Given the description of an element on the screen output the (x, y) to click on. 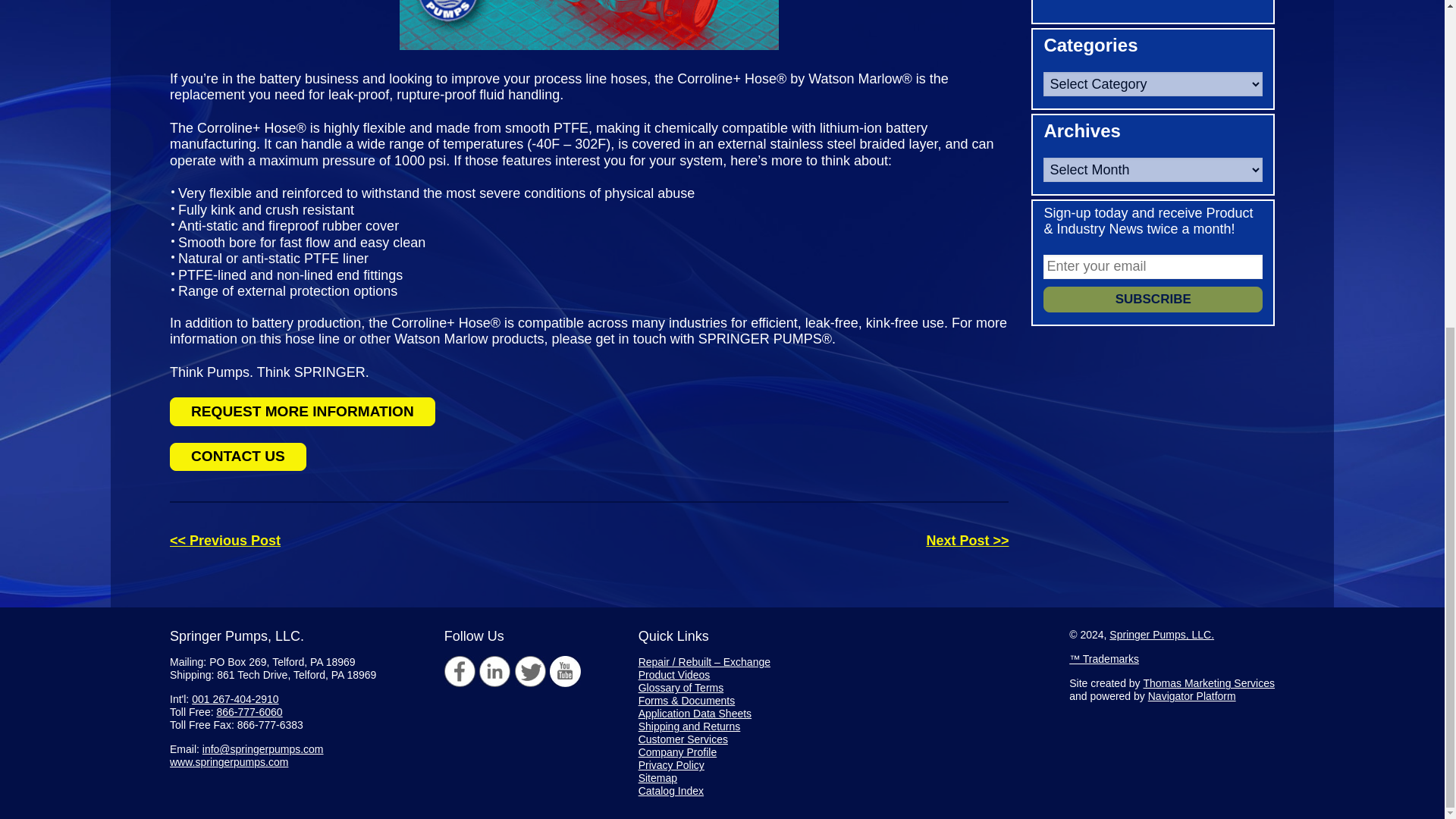
REQUEST MORE INFORMATION (302, 411)
YouTube (565, 671)
Subscribe (1152, 299)
LinkedIn (495, 671)
Twitter (530, 671)
Navigator Platform (1192, 696)
Facebook (460, 671)
CONTACT US (237, 456)
